Given the description of an element on the screen output the (x, y) to click on. 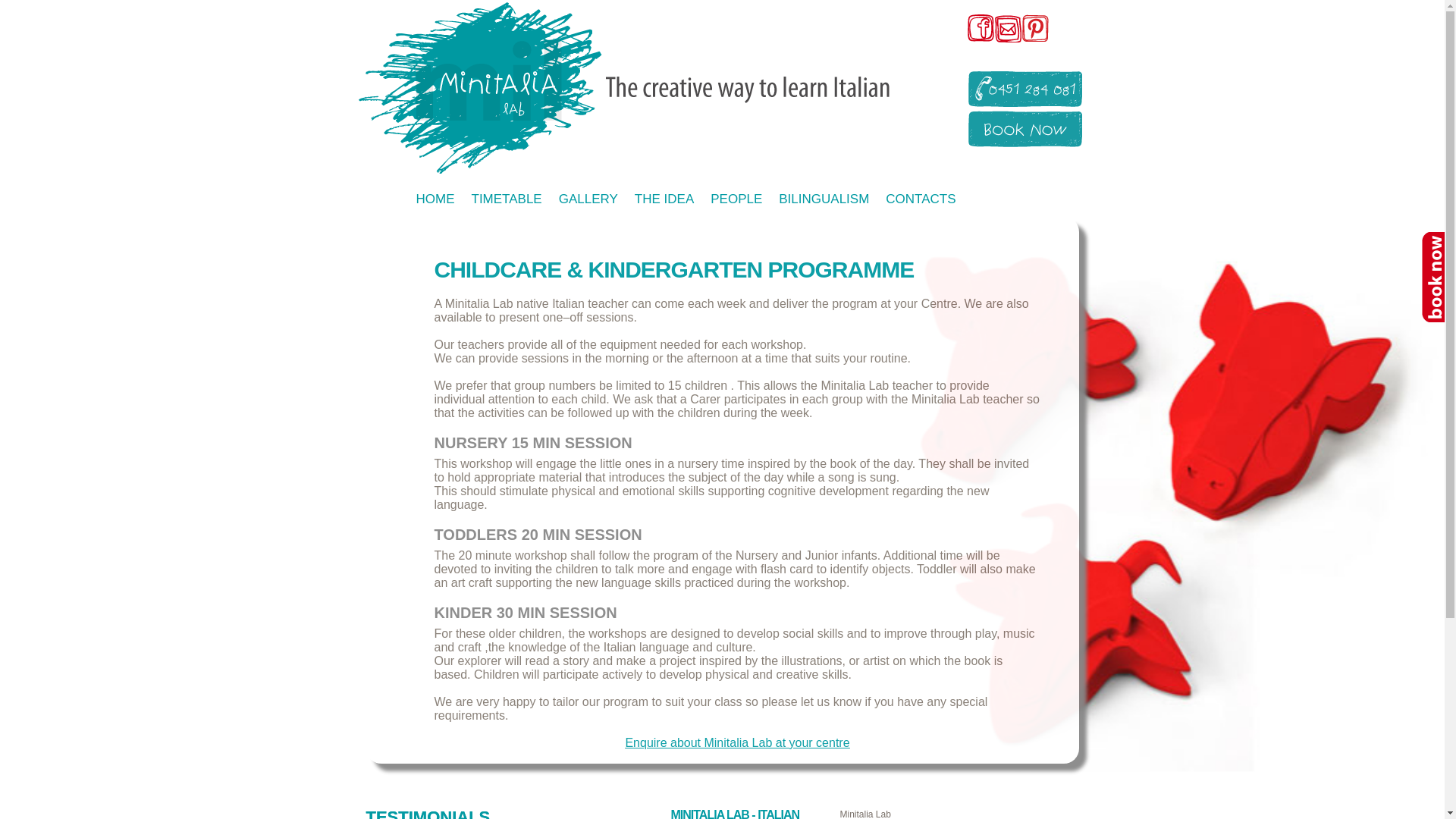
italian lessons for children Element type: hover (628, 87)
book_now4 Element type: hover (1432, 277)
THE IDEA Element type: text (664, 199)
GALLERY Element type: text (588, 199)
HOME Element type: text (434, 199)
PEOPLE Element type: text (736, 199)
BILINGUALISM Element type: text (823, 199)
CONTACTS Element type: text (920, 199)
Enquire about Minitalia Lab at your centre Element type: text (736, 742)
TIMETABLE Element type: text (506, 199)
